Given the description of an element on the screen output the (x, y) to click on. 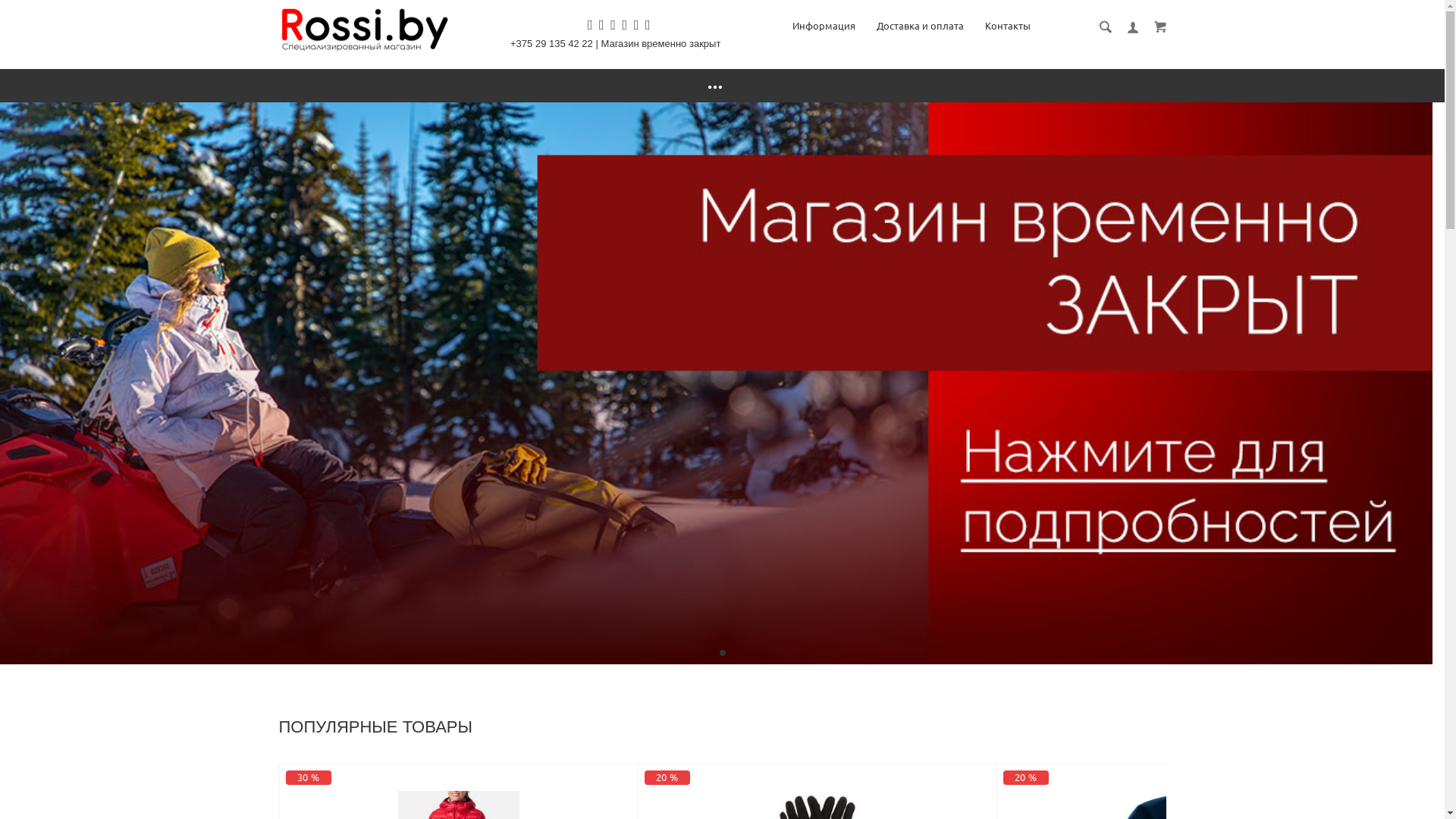
+375 29 135 42 22 Element type: text (554, 43)
1 Element type: text (721, 652)
